Given the description of an element on the screen output the (x, y) to click on. 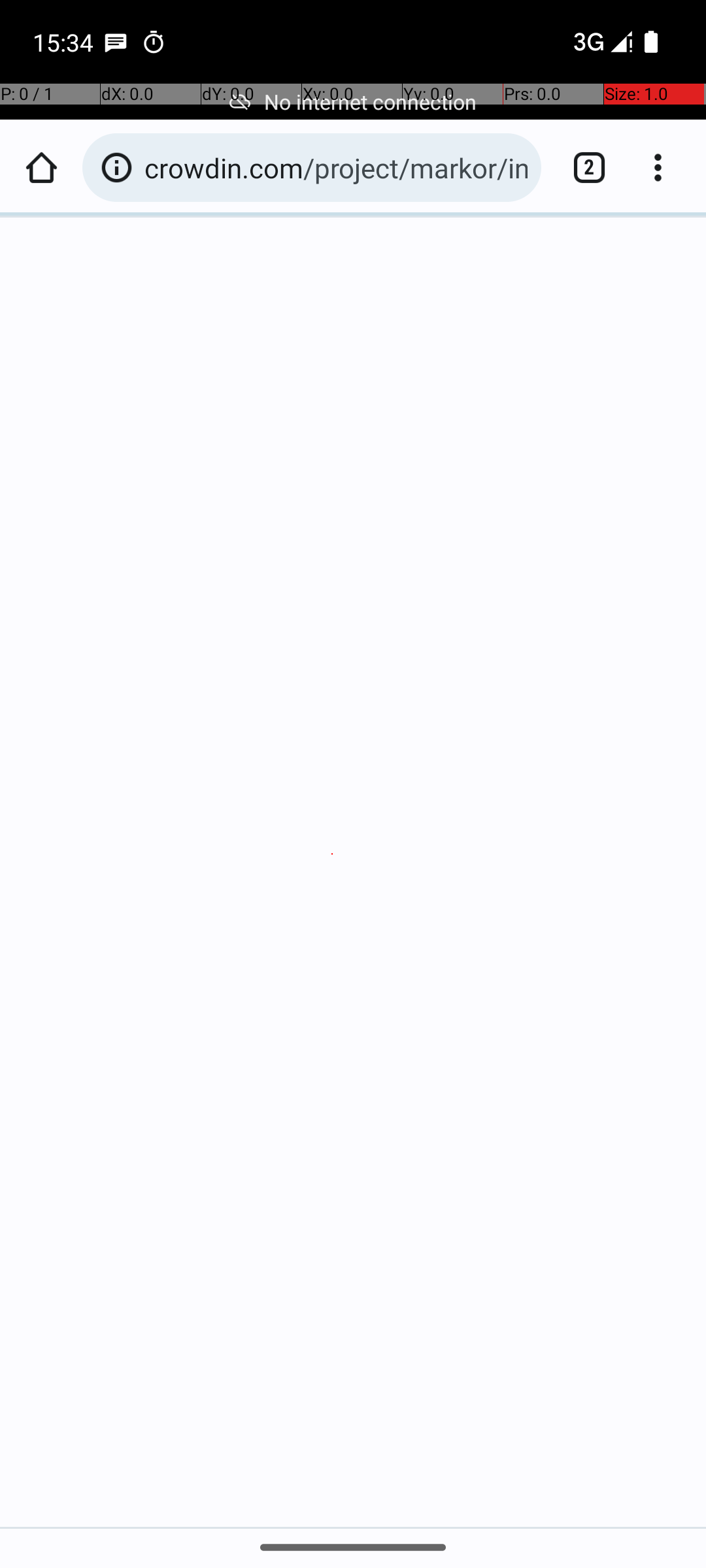
crowdin.com/project/markor/invite Element type: android.widget.EditText (335, 167)
